Given the description of an element on the screen output the (x, y) to click on. 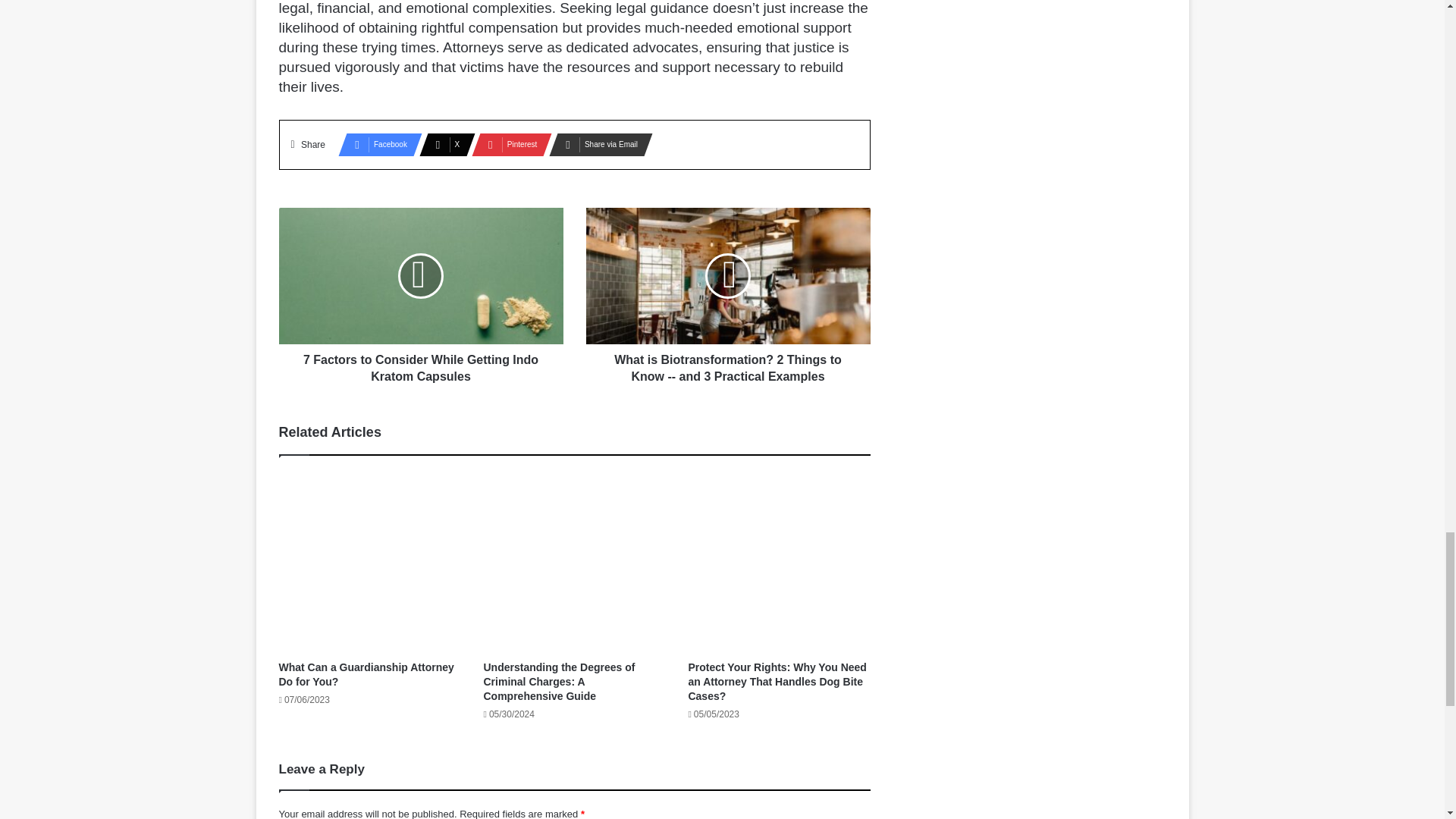
Share via Email (595, 144)
Pinterest (507, 144)
X (442, 144)
Facebook (375, 144)
